Given the description of an element on the screen output the (x, y) to click on. 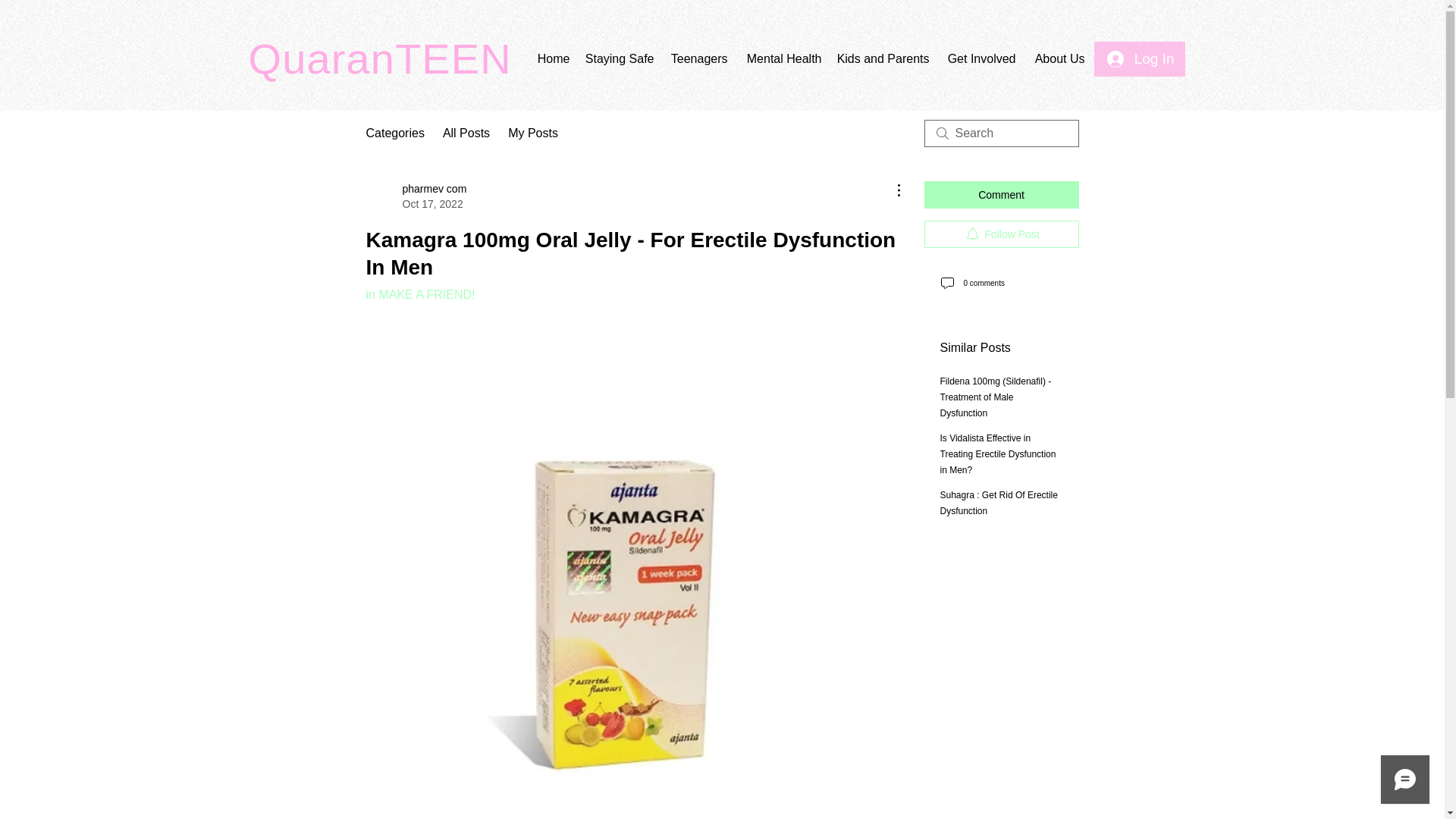
Staying Safe (620, 58)
All Posts (465, 133)
Categories (394, 133)
Comment (1000, 194)
Get Involved (980, 58)
in MAKE A FRIEND! (419, 294)
Teenagers (415, 195)
Log In (698, 58)
Follow Post (1140, 59)
My Posts (1000, 234)
Mental Health (532, 133)
QuaranTEEN (782, 58)
Kids and Parents (380, 58)
